Given the description of an element on the screen output the (x, y) to click on. 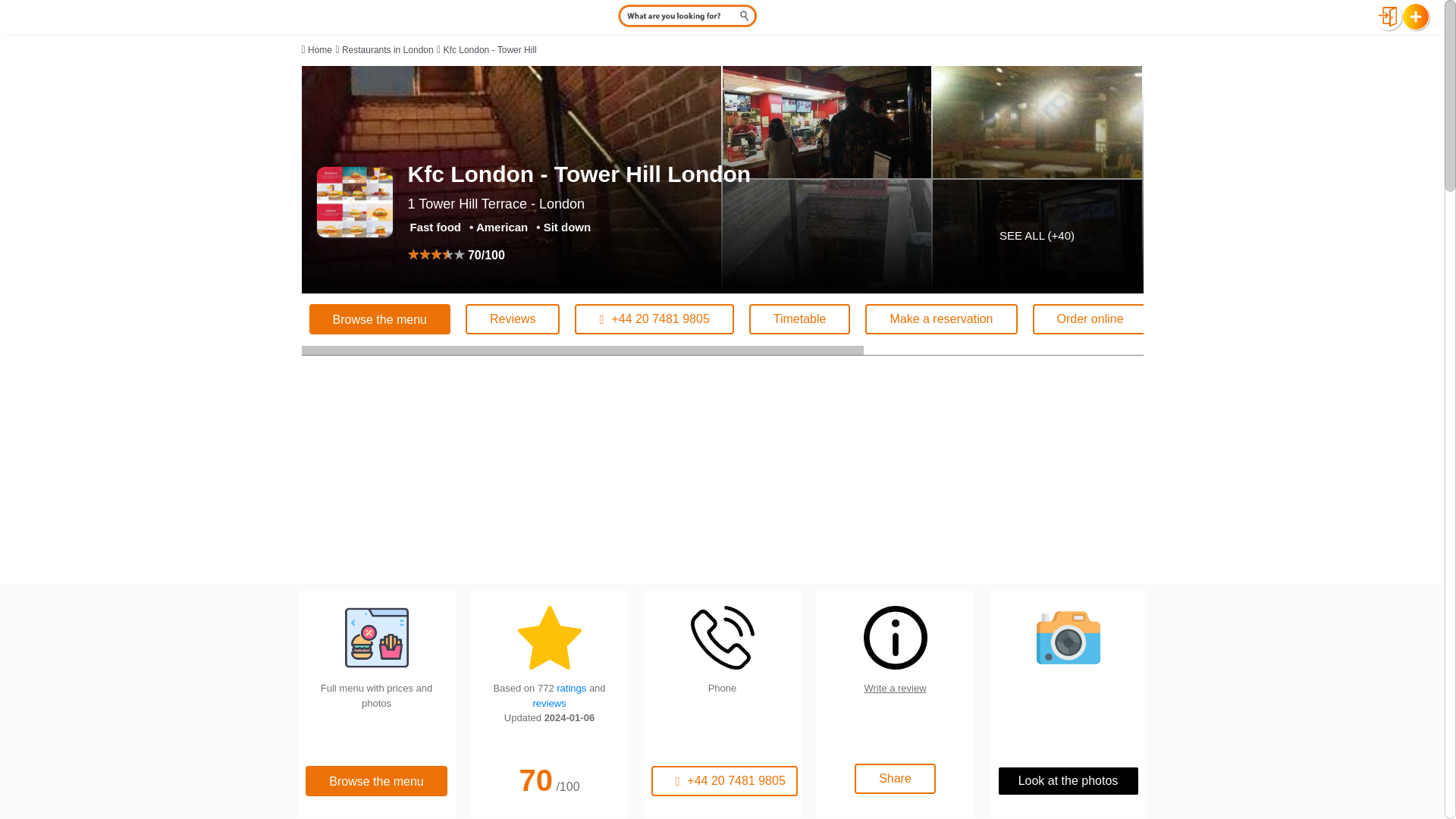
Restaurants in London (387, 50)
Reviews (512, 318)
Timetable (799, 318)
Home (319, 50)
Add photo (1214, 318)
Order online (1090, 318)
Browse the menu (379, 318)
Share (1322, 318)
Make a reservation (940, 318)
Kfc London - Tower Hill (490, 50)
Kfc London - Tower Hill, London (355, 202)
